Given the description of an element on the screen output the (x, y) to click on. 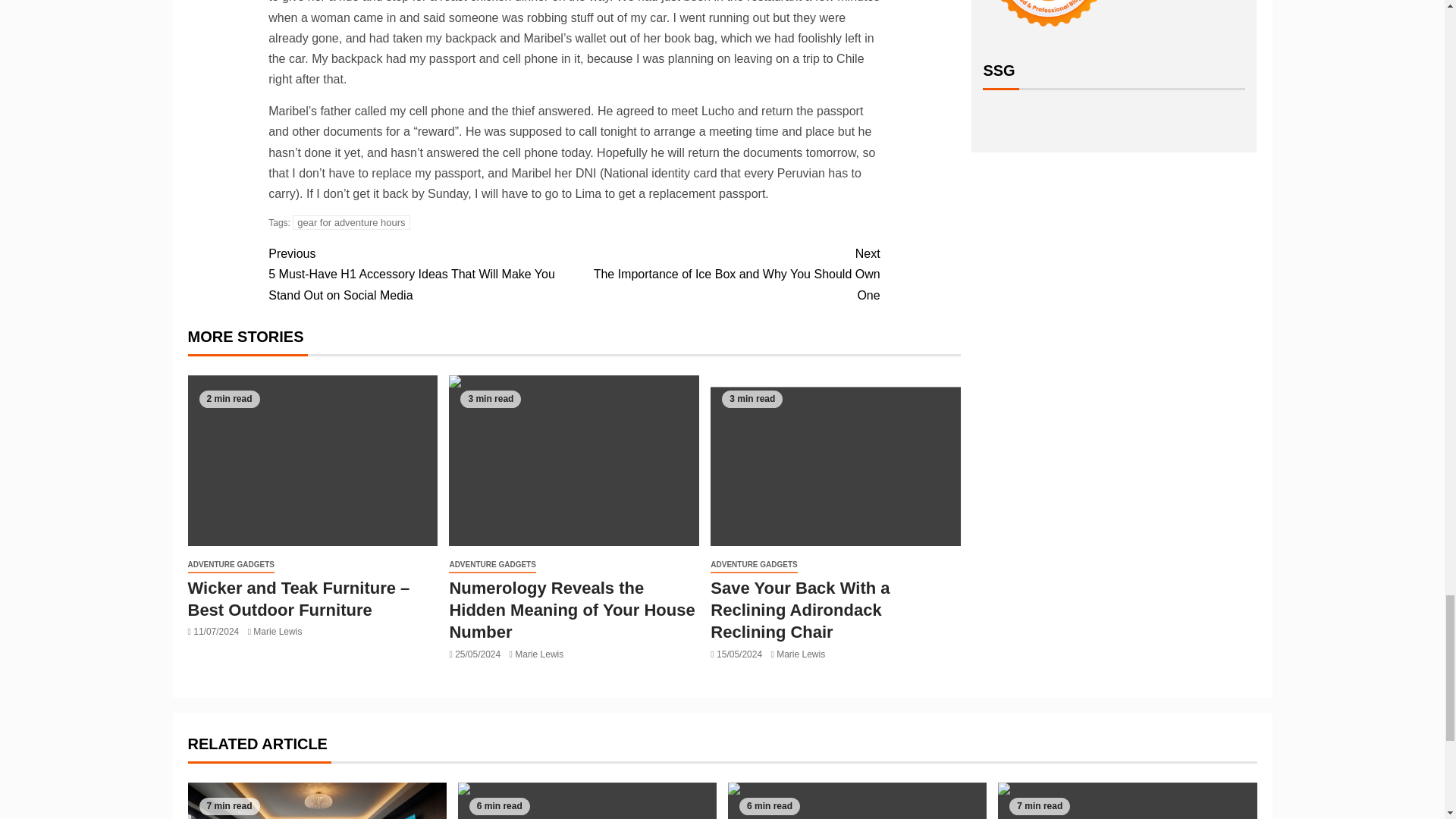
Numerology Reveals the Hidden Meaning of Your House Number (573, 460)
ADVENTURE GADGETS (491, 565)
Marie Lewis (277, 631)
ADVENTURE GADGETS (231, 565)
Save Your Back With a Reclining Adirondack Reclining Chair (835, 460)
Seedbacklink (1047, 18)
Numerology Reveals the Hidden Meaning of Your House Number (571, 610)
Streamline Your Space: Simple Smart Home Devices Explained (587, 800)
